Given the description of an element on the screen output the (x, y) to click on. 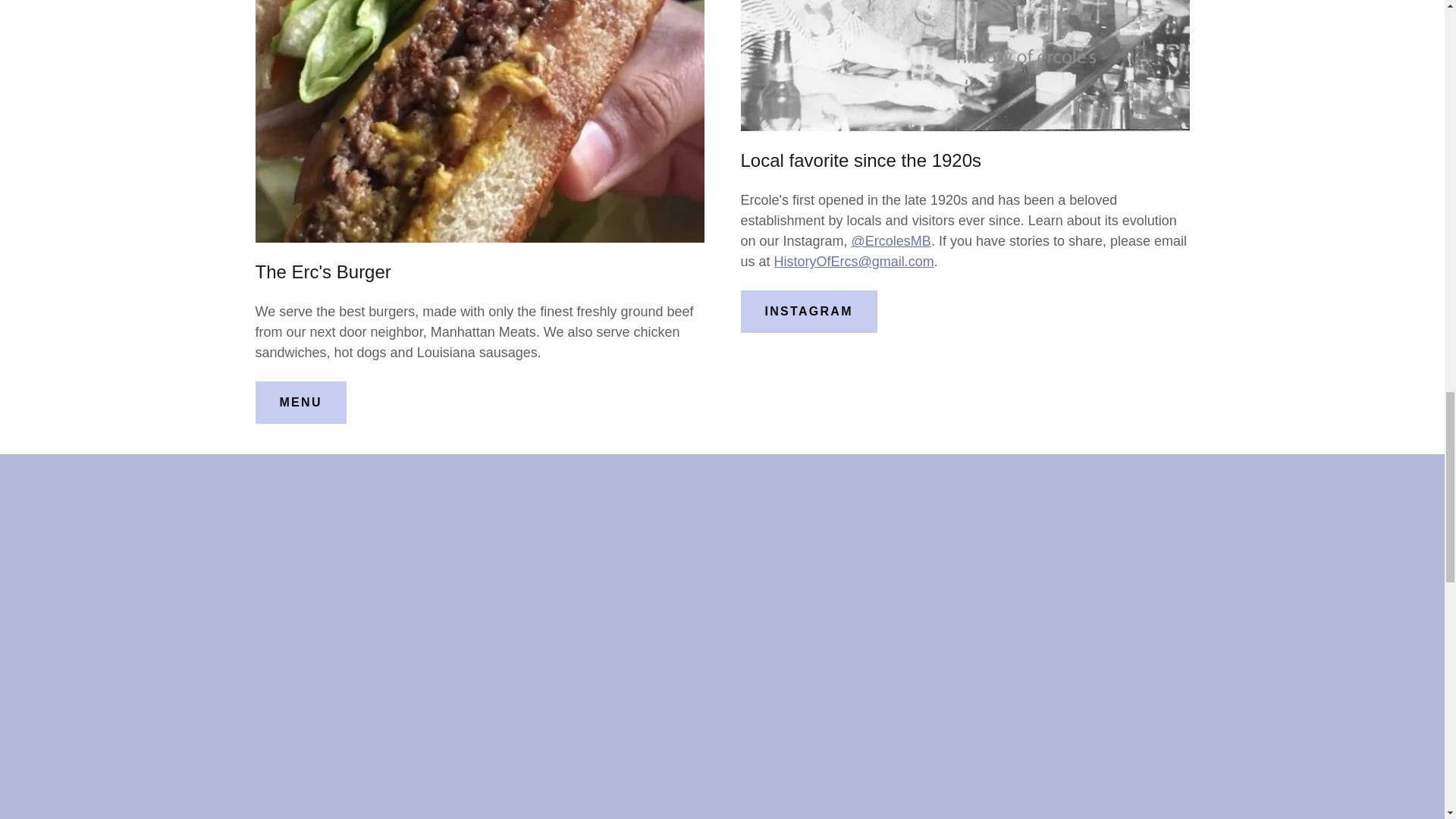
MENU (300, 402)
INSTAGRAM (807, 311)
